Given the description of an element on the screen output the (x, y) to click on. 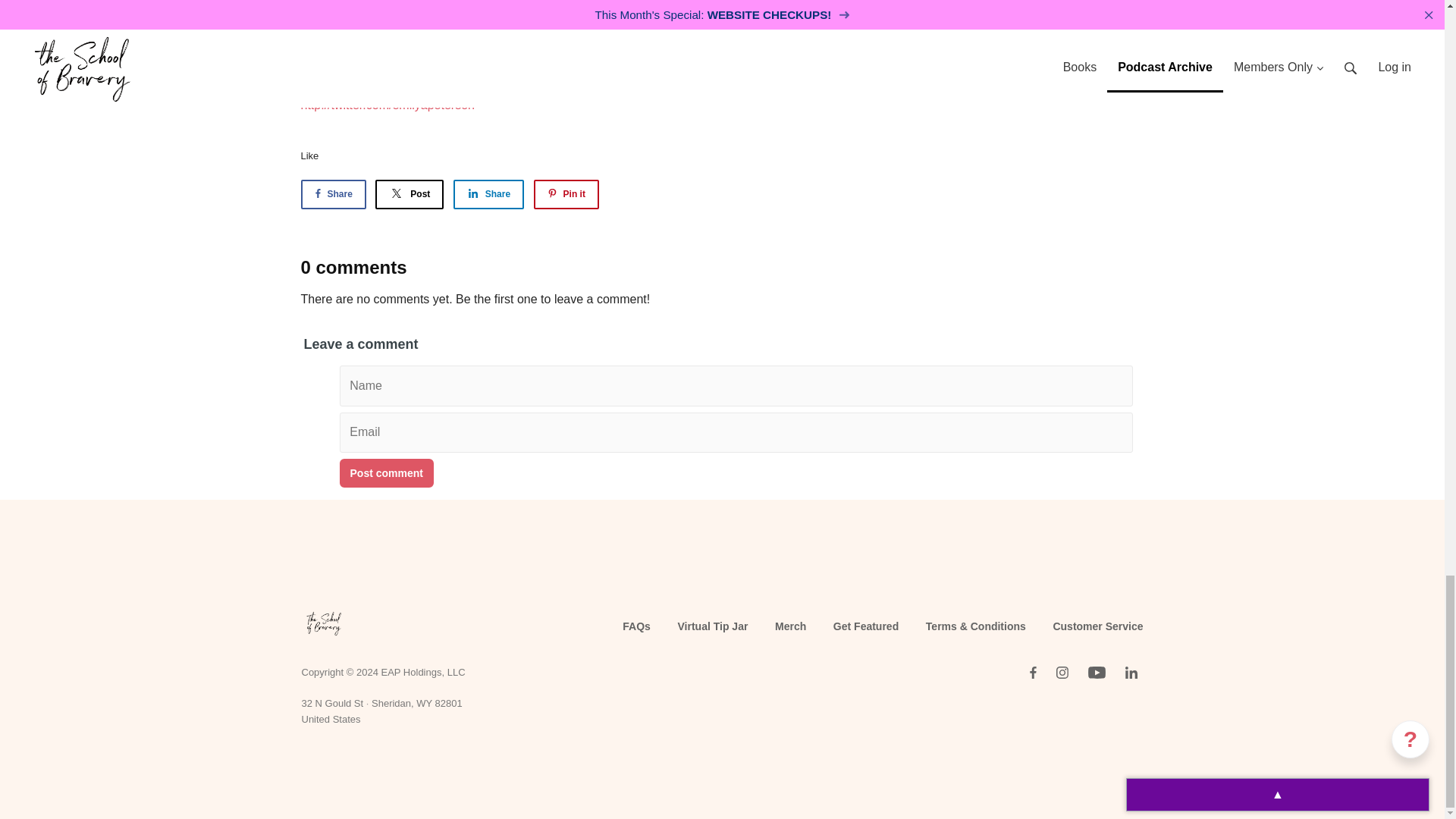
Share (488, 194)
Post on X (409, 194)
Post comment (386, 472)
Instagram (1061, 672)
Share on LinkedIn (488, 194)
Like (308, 155)
LinkedIn (1130, 672)
Pin it (566, 194)
Post (409, 194)
The School of Bravery (323, 624)
Pin on Pinterest (566, 194)
Share (332, 194)
Share on Facebook (332, 194)
YouTube (1095, 672)
